Given the description of an element on the screen output the (x, y) to click on. 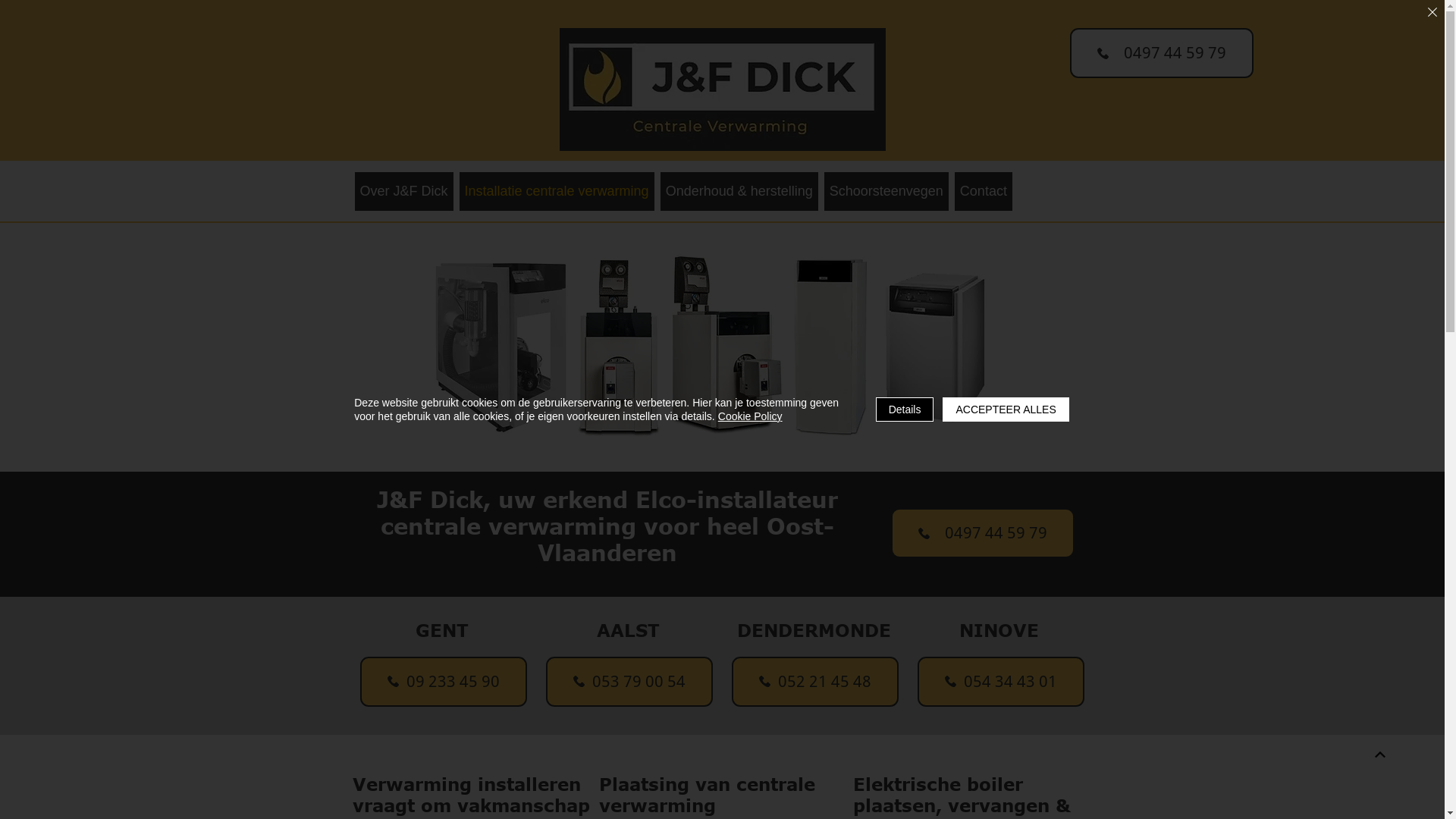
0497 44 59 79 Element type: text (1160, 53)
Schoorsteenvegen Element type: text (886, 191)
Contact Element type: text (983, 191)
052 21 45 48 Element type: text (814, 681)
053 79 00 54 Element type: text (629, 681)
0497 44 59 79 Element type: text (981, 533)
054 34 43 01 Element type: text (1000, 681)
Installatie centrale verwarming Element type: text (556, 191)
Details Element type: text (904, 409)
Cookie Policy Element type: text (750, 416)
ACCEPTEER ALLES Element type: text (1005, 409)
Onderhoud & herstelling Element type: text (739, 191)
09 233 45 90 Element type: text (442, 681)
Dick Element type: hover (722, 89)
Over J&F Dick Element type: text (403, 191)
